Given the description of an element on the screen output the (x, y) to click on. 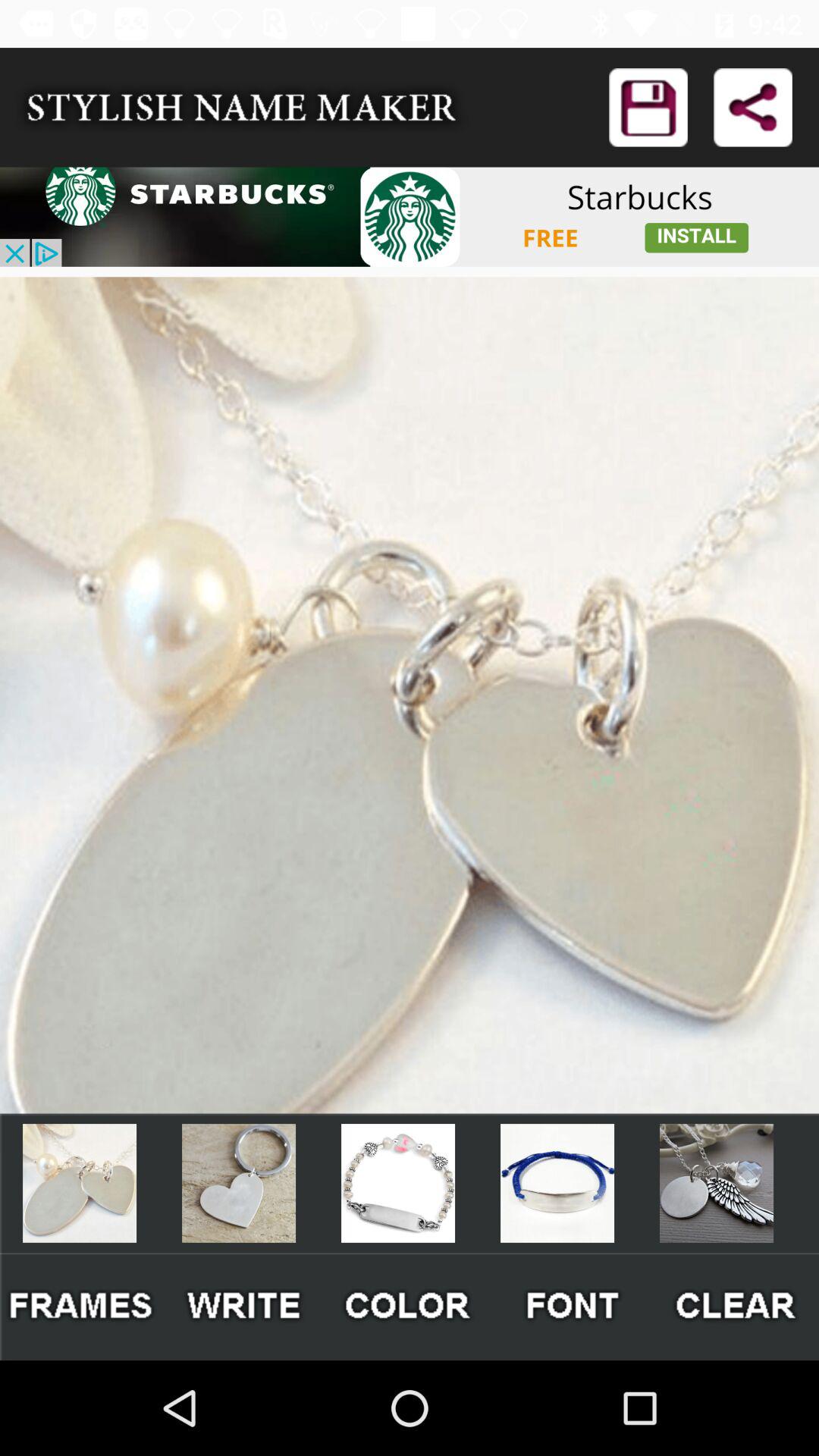
write (245, 1306)
